Given the description of an element on the screen output the (x, y) to click on. 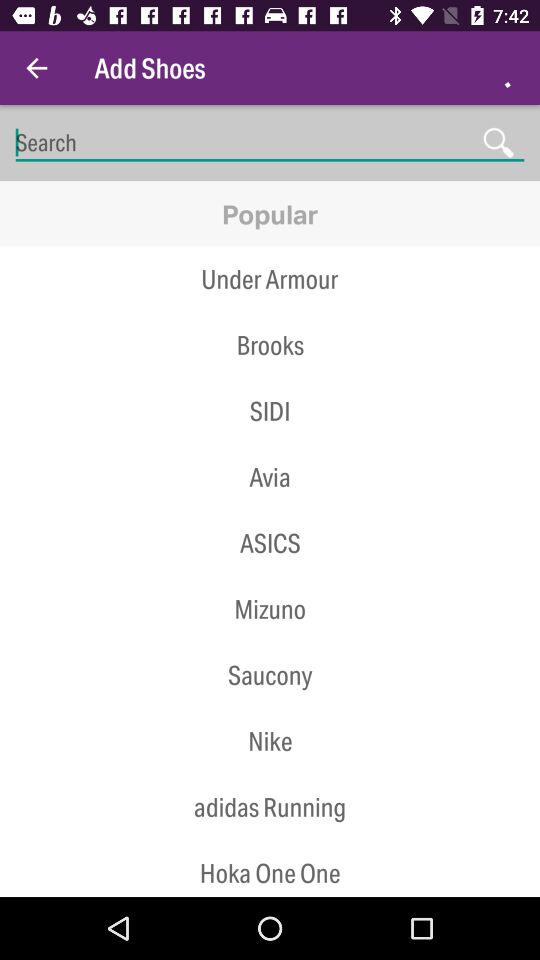
allow search entry (269, 142)
